Given the description of an element on the screen output the (x, y) to click on. 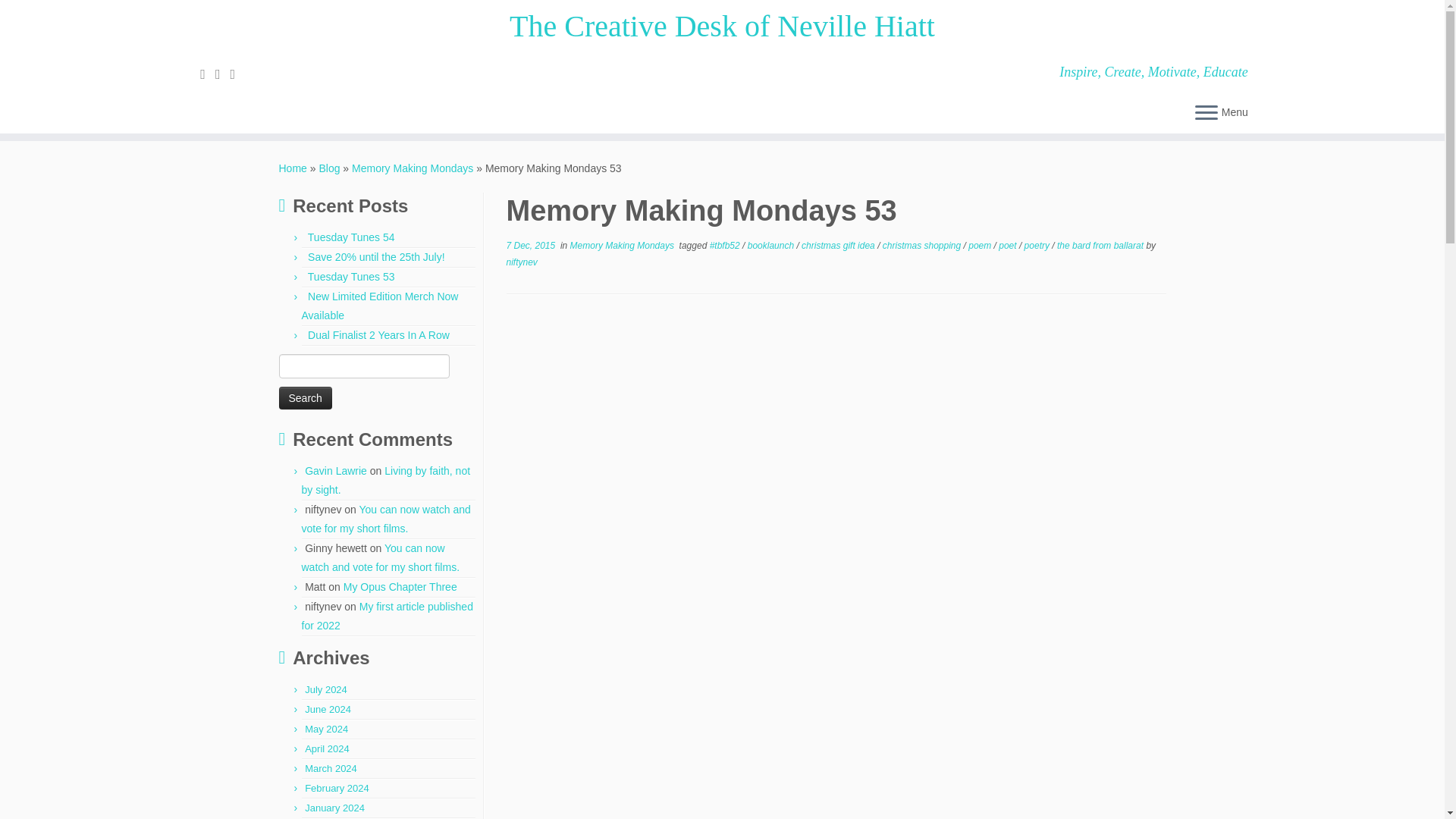
View all posts in Memory Making Mondays (623, 245)
Tuesday Tunes 53 (350, 276)
The Creative Desk of Neville Hiatt (293, 168)
April 2024 (326, 748)
New Limited Edition Merch Now Available (379, 305)
Memory Making Mondays (412, 168)
Search (305, 397)
Blog (328, 168)
Open the menu (1206, 113)
Blog (328, 168)
Memory Making Mondays (412, 168)
View all posts in booklaunch (772, 245)
7:24 pm (531, 245)
You can now watch and vote for my short films. (380, 557)
May 2024 (325, 728)
